Given the description of an element on the screen output the (x, y) to click on. 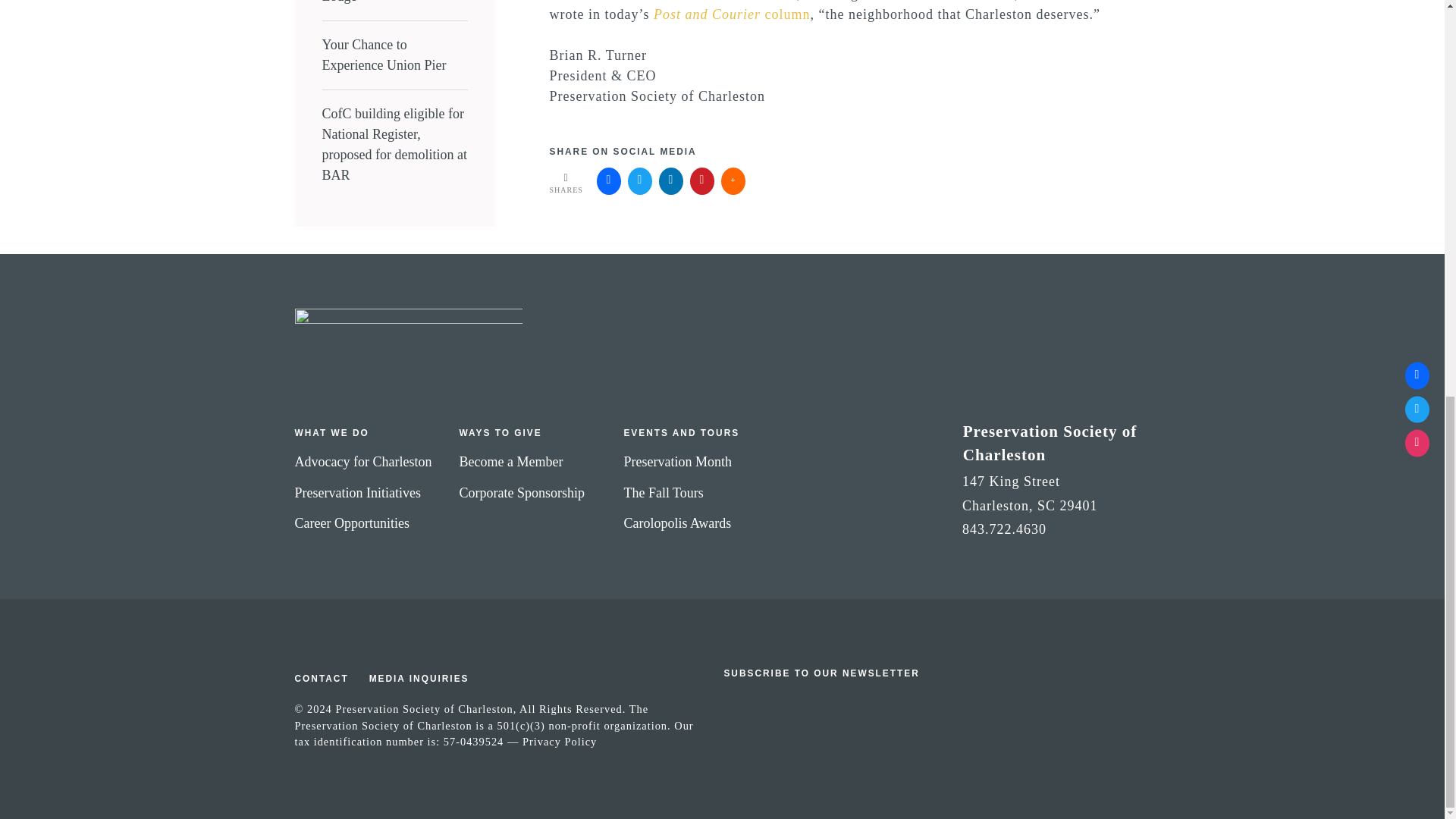
Tweet this ! (639, 180)
More share links (732, 180)
Submit this to Pinterest (702, 180)
Share this on Facebook (608, 180)
Add this to LinkedIn (670, 180)
